Given the description of an element on the screen output the (x, y) to click on. 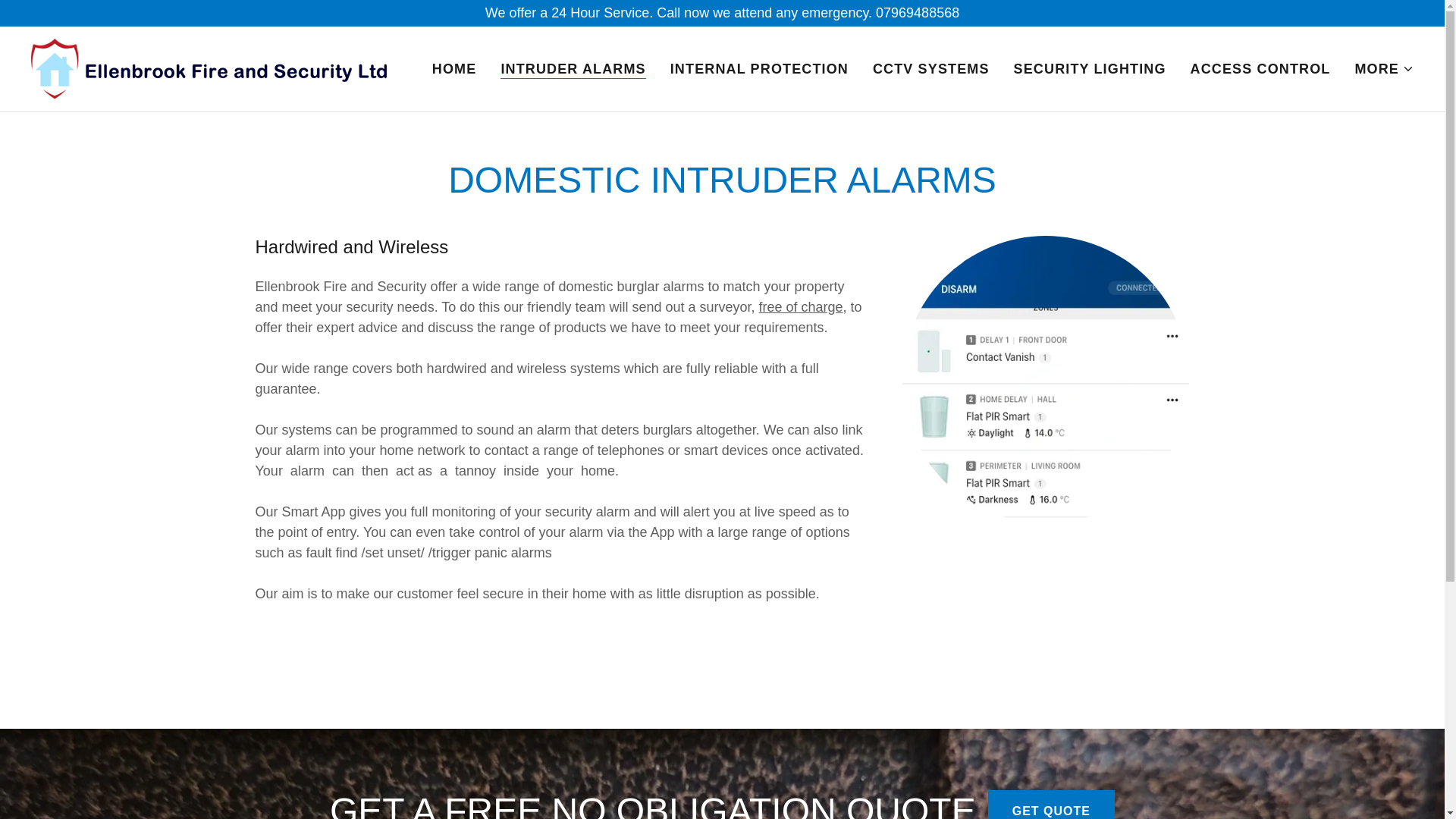
HOME (454, 68)
ACCESS CONTROL (1260, 68)
SECURITY LIGHTING (1089, 68)
GET QUOTE (1051, 804)
CCTV SYSTEMS (930, 68)
INTERNAL PROTECTION (759, 68)
INTRUDER ALARMS (572, 68)
MORE (1383, 68)
Ellenbrook Fire and Security (210, 68)
